Given the description of an element on the screen output the (x, y) to click on. 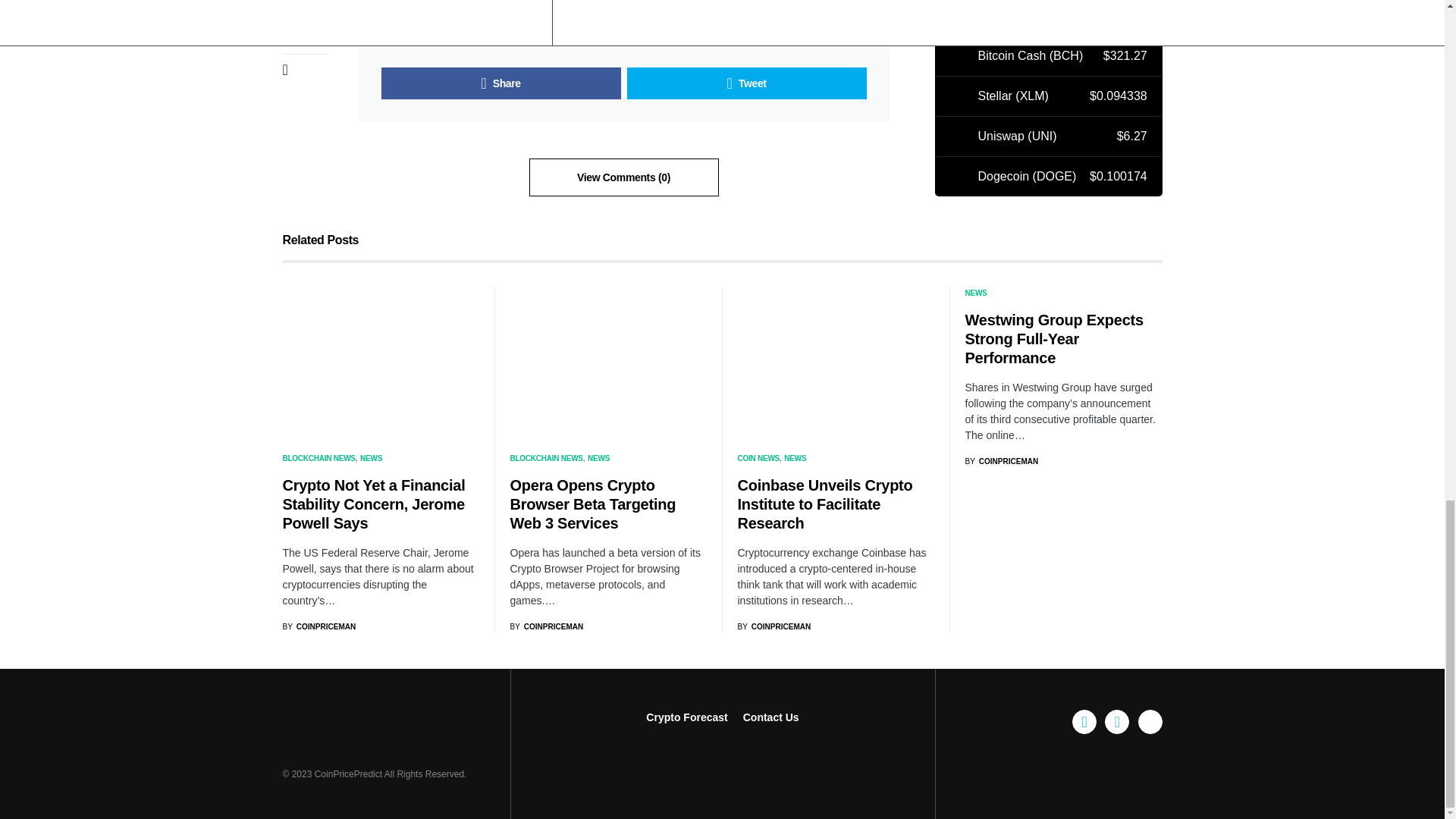
View all posts by coinpriceman (1000, 460)
View all posts by coinpriceman (318, 626)
View all posts by coinpriceman (546, 626)
View all posts by coinpriceman (773, 626)
